Given the description of an element on the screen output the (x, y) to click on. 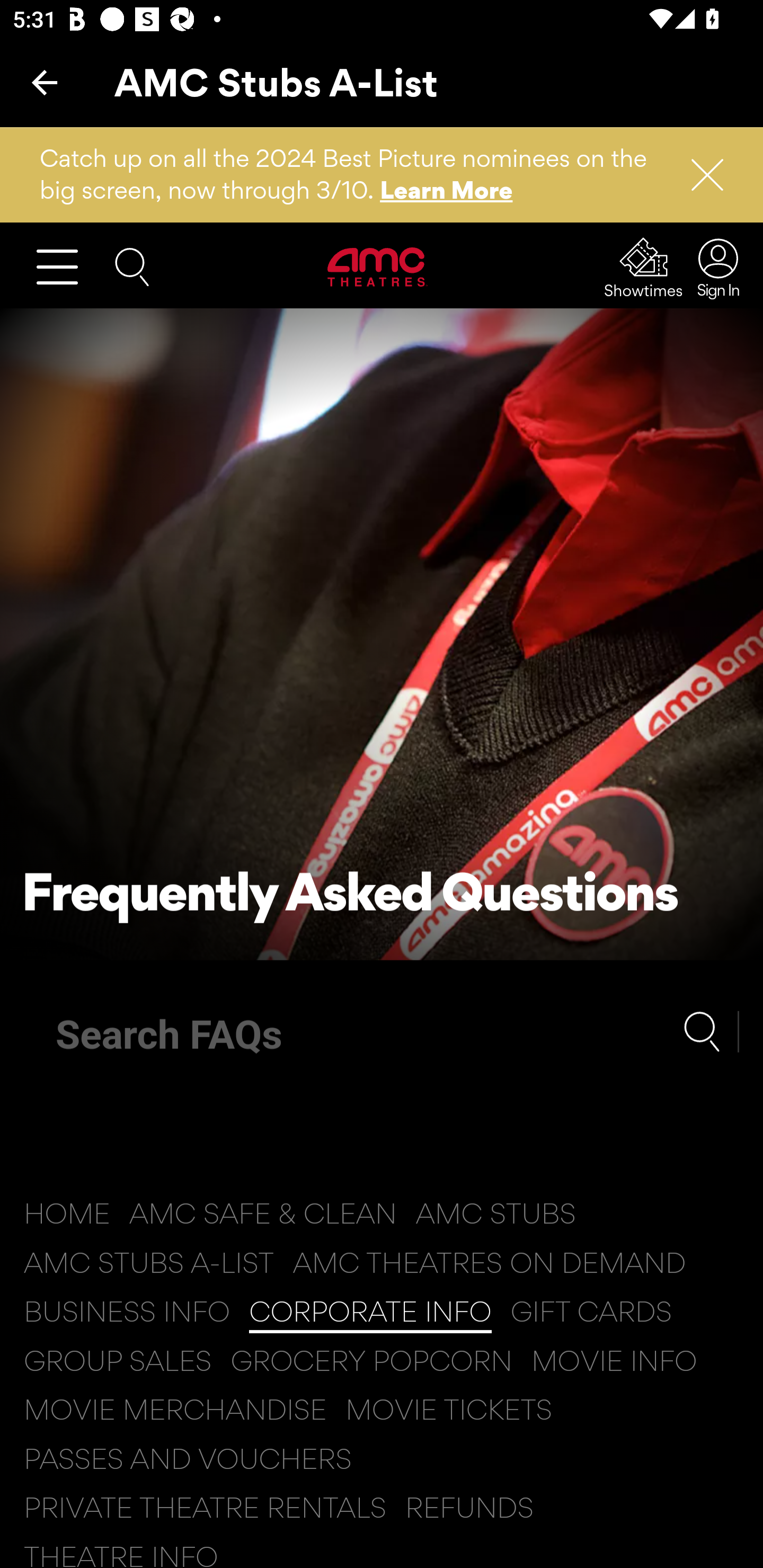
Back (44, 82)
Dismiss Notification (699, 174)
Learn More (446, 189)
Open Menu (64, 266)
Showtimes Showtimes Showtimes (643, 267)
Sign In (713, 267)
Search the AMC website (131, 265)
Visit Home Page AMC Theatres Logo (377, 266)
Submit Search Button (710, 1030)
